Given the description of an element on the screen output the (x, y) to click on. 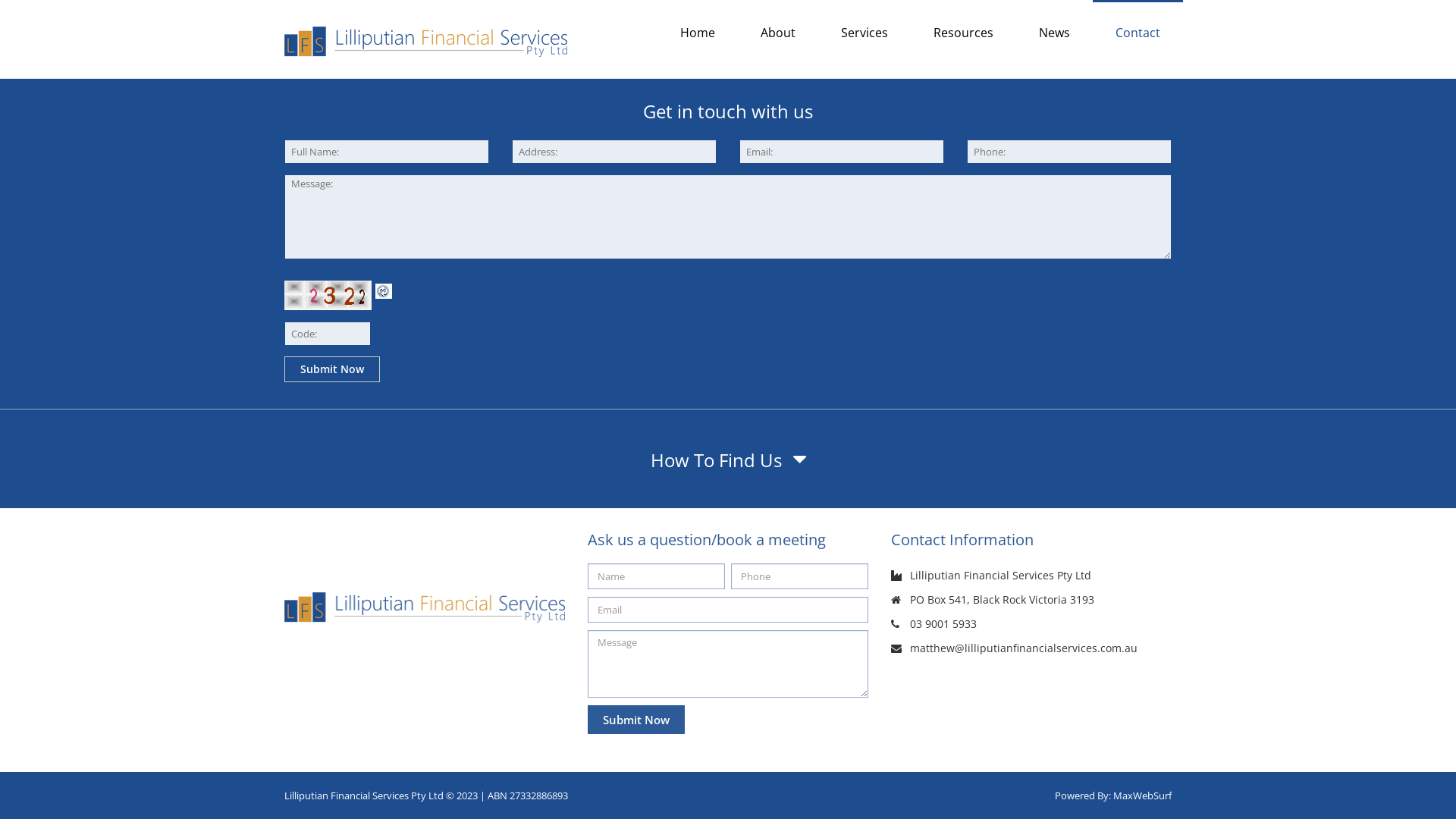
Home Element type: text (697, 31)
About Element type: text (777, 31)
Contact Element type: text (1137, 31)
Services Element type: text (864, 31)
Refresh Image Element type: hover (383, 289)
MaxWebSurf Element type: text (1142, 795)
News Element type: text (1054, 31)
Resources Element type: text (963, 31)
03 9001 5933 Element type: text (943, 623)
matthew@lilliputianfinancialservices.com.au Element type: text (1023, 647)
Submit Now Element type: text (635, 719)
Submit Now Element type: text (331, 369)
